Given the description of an element on the screen output the (x, y) to click on. 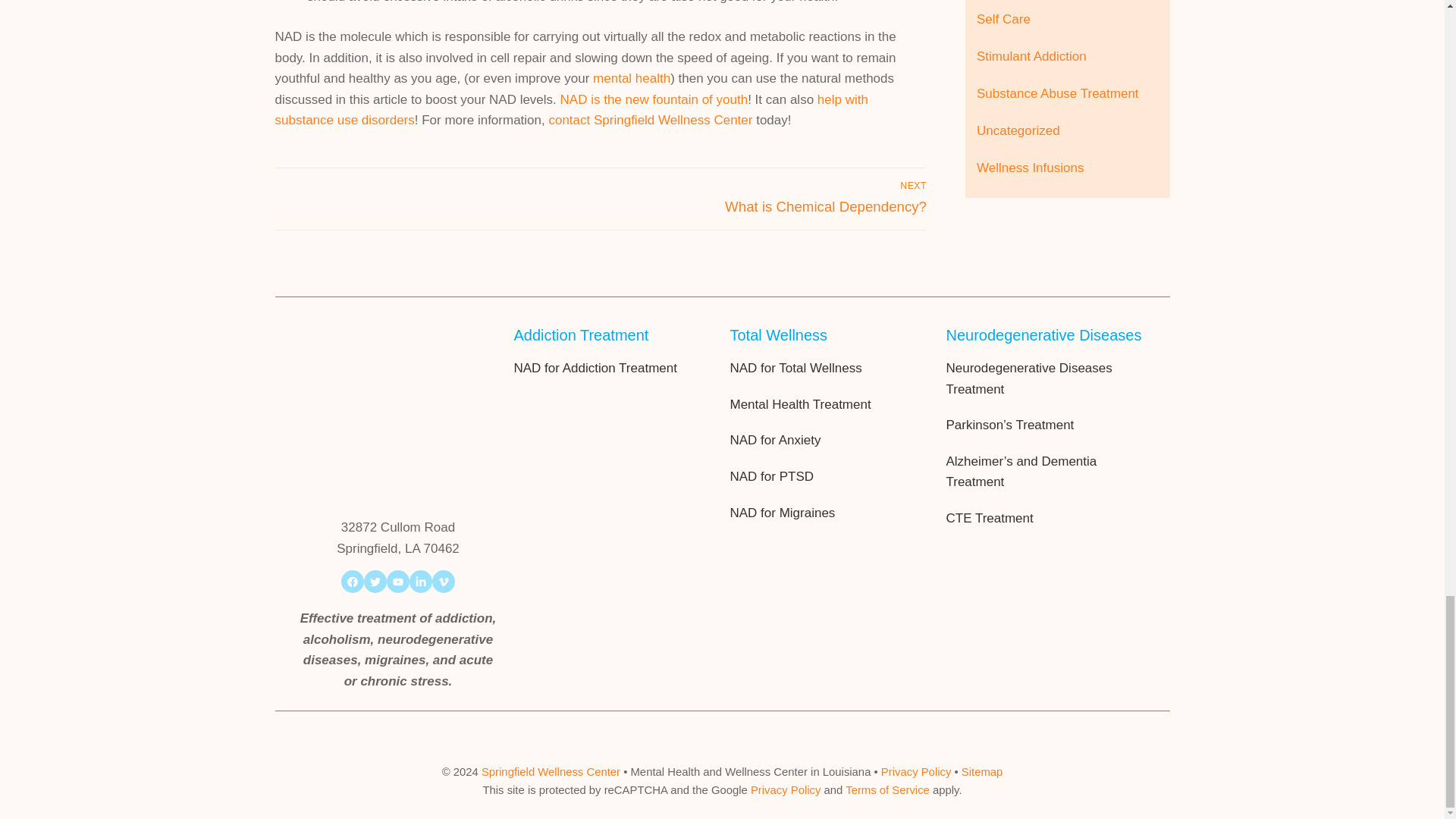
NAD for Addiction Treatment (595, 368)
NAD for Total Wellness (799, 368)
Mental Health Treatment (799, 404)
